Given the description of an element on the screen output the (x, y) to click on. 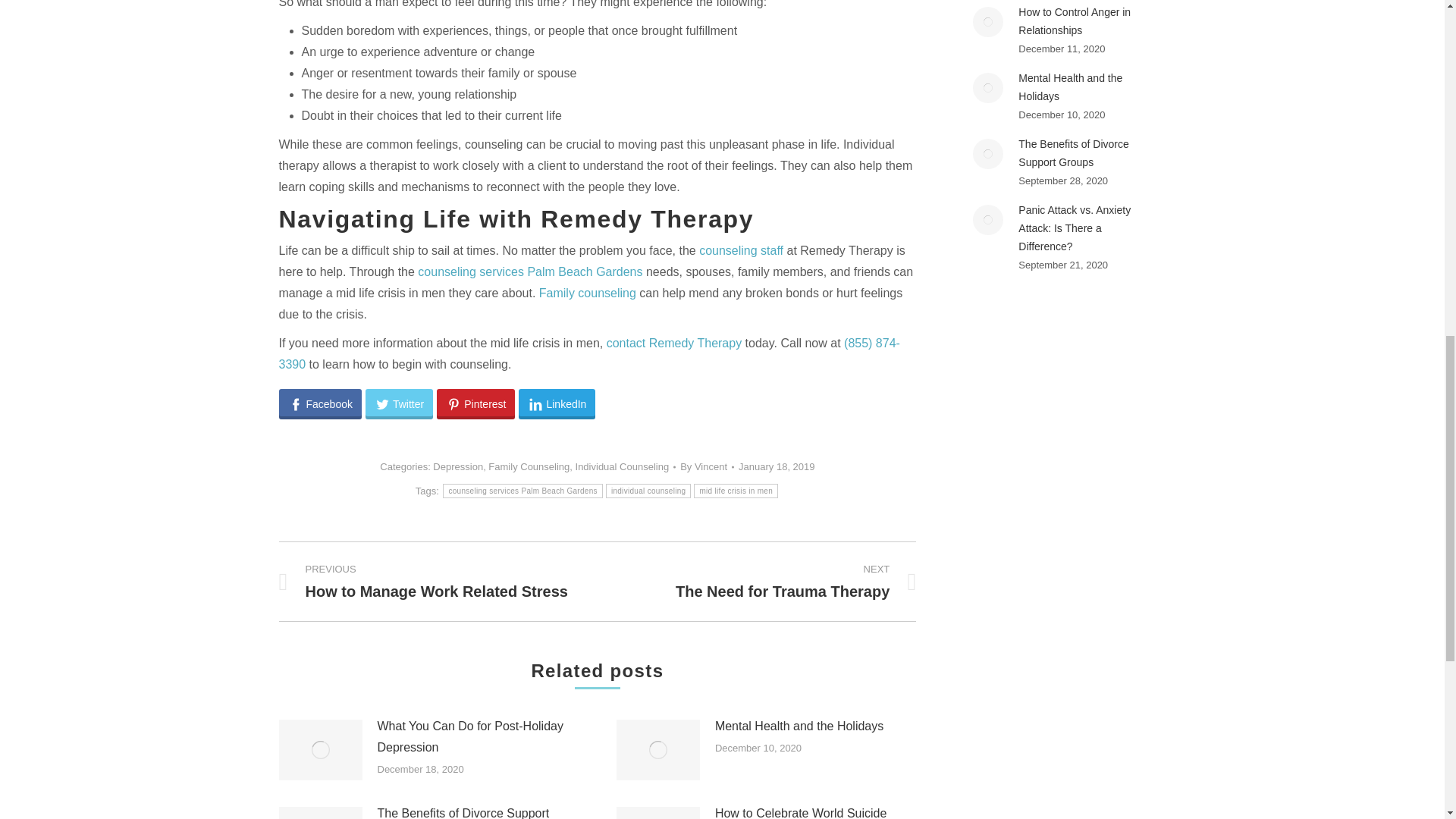
9:00 am (775, 466)
View all posts by Vincent (706, 466)
